Given the description of an element on the screen output the (x, y) to click on. 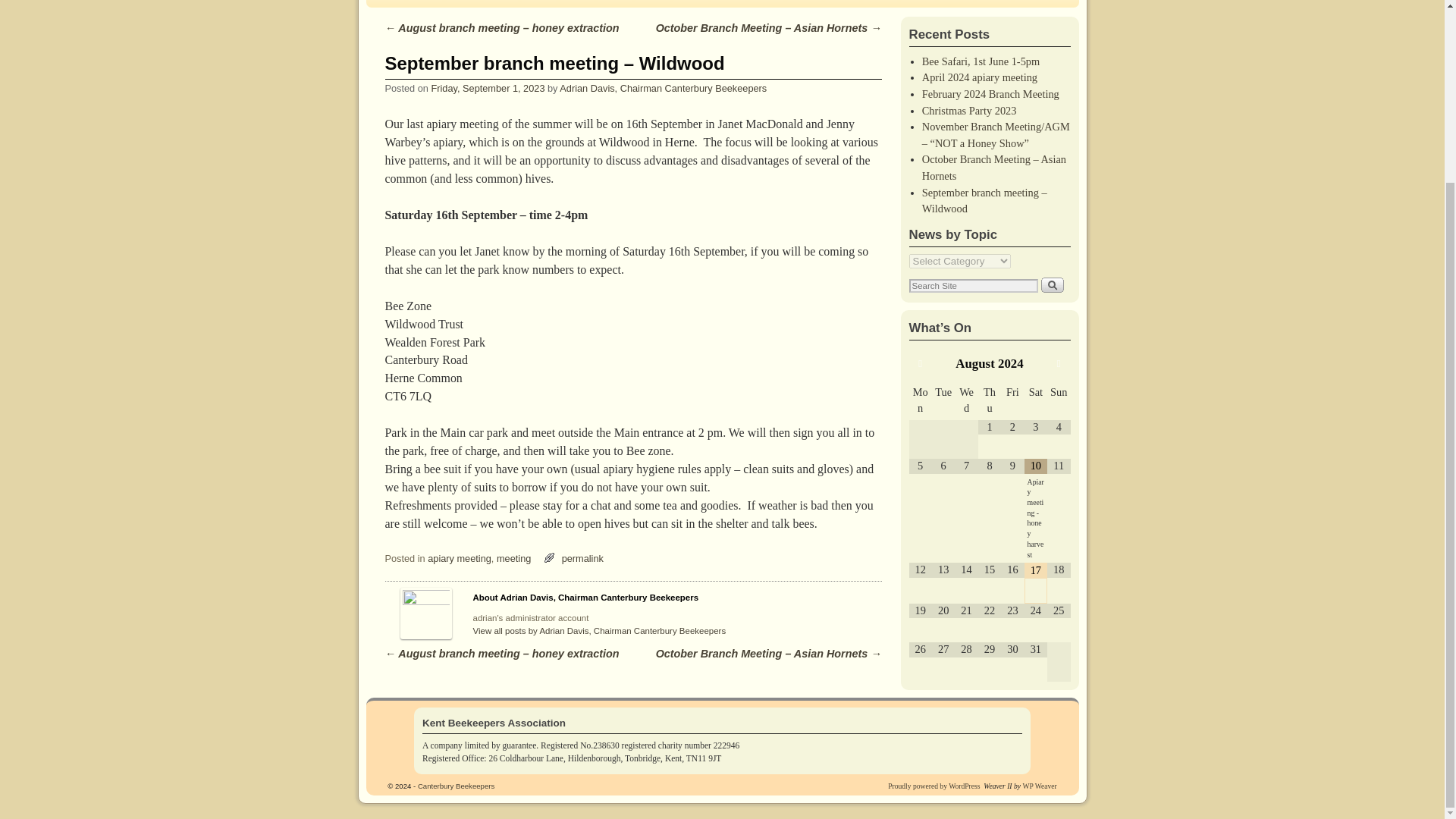
apiary meeting (460, 558)
Adrian Davis, Chairman Canterbury Beekeepers (663, 88)
February 2024 Branch Meeting (990, 93)
External Links (416, 3)
Canterbury Beekeepers (456, 786)
April 2024 apiary meeting (978, 77)
1:05 pm (487, 88)
Login (479, 3)
Previous Month (919, 363)
